Given the description of an element on the screen output the (x, y) to click on. 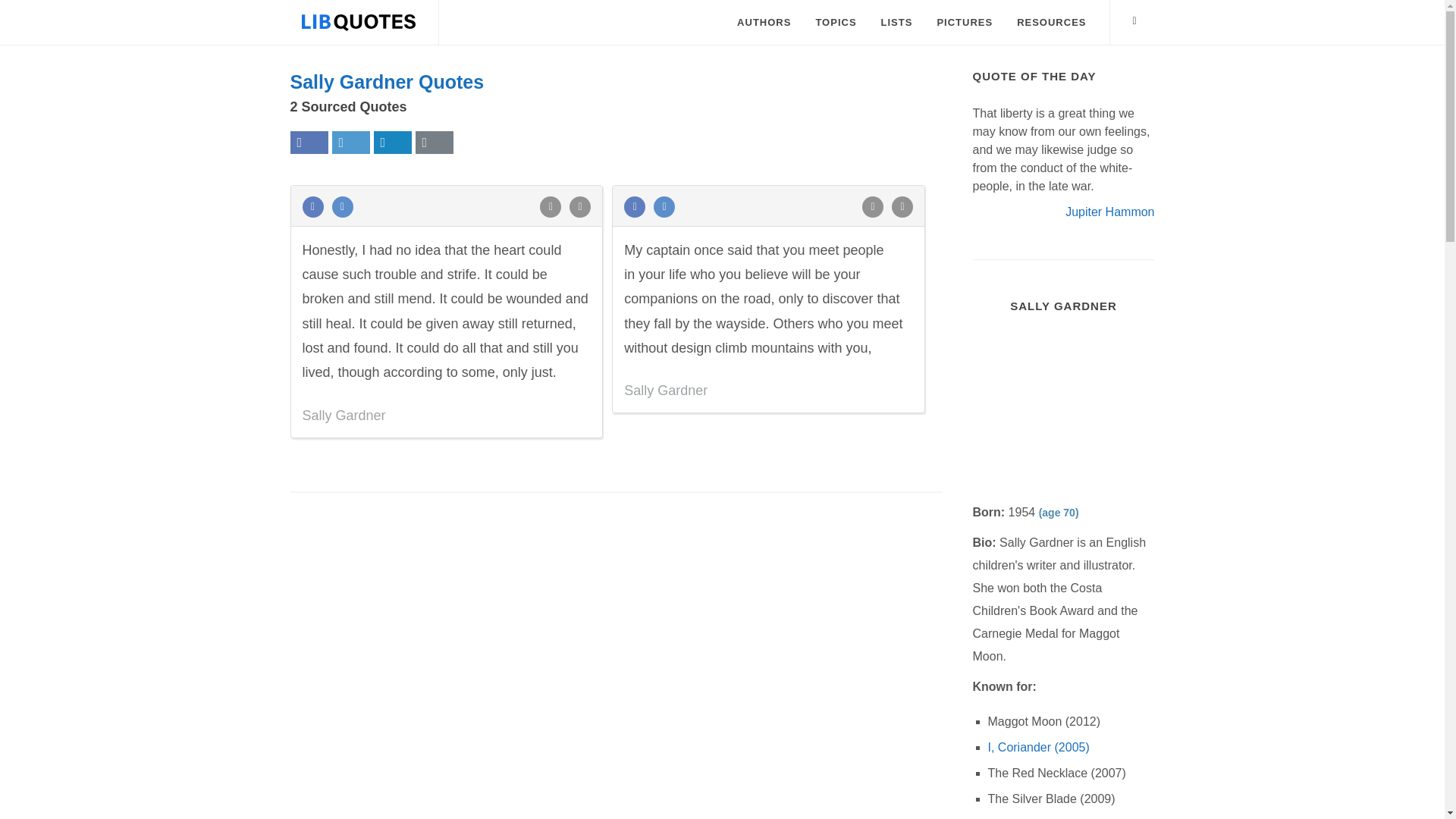
RESOURCES (1051, 22)
AUTHORS (763, 22)
TOPICS (835, 22)
Jupiter Hammon (1109, 210)
LISTS (896, 22)
PICTURES (964, 22)
